Given the description of an element on the screen output the (x, y) to click on. 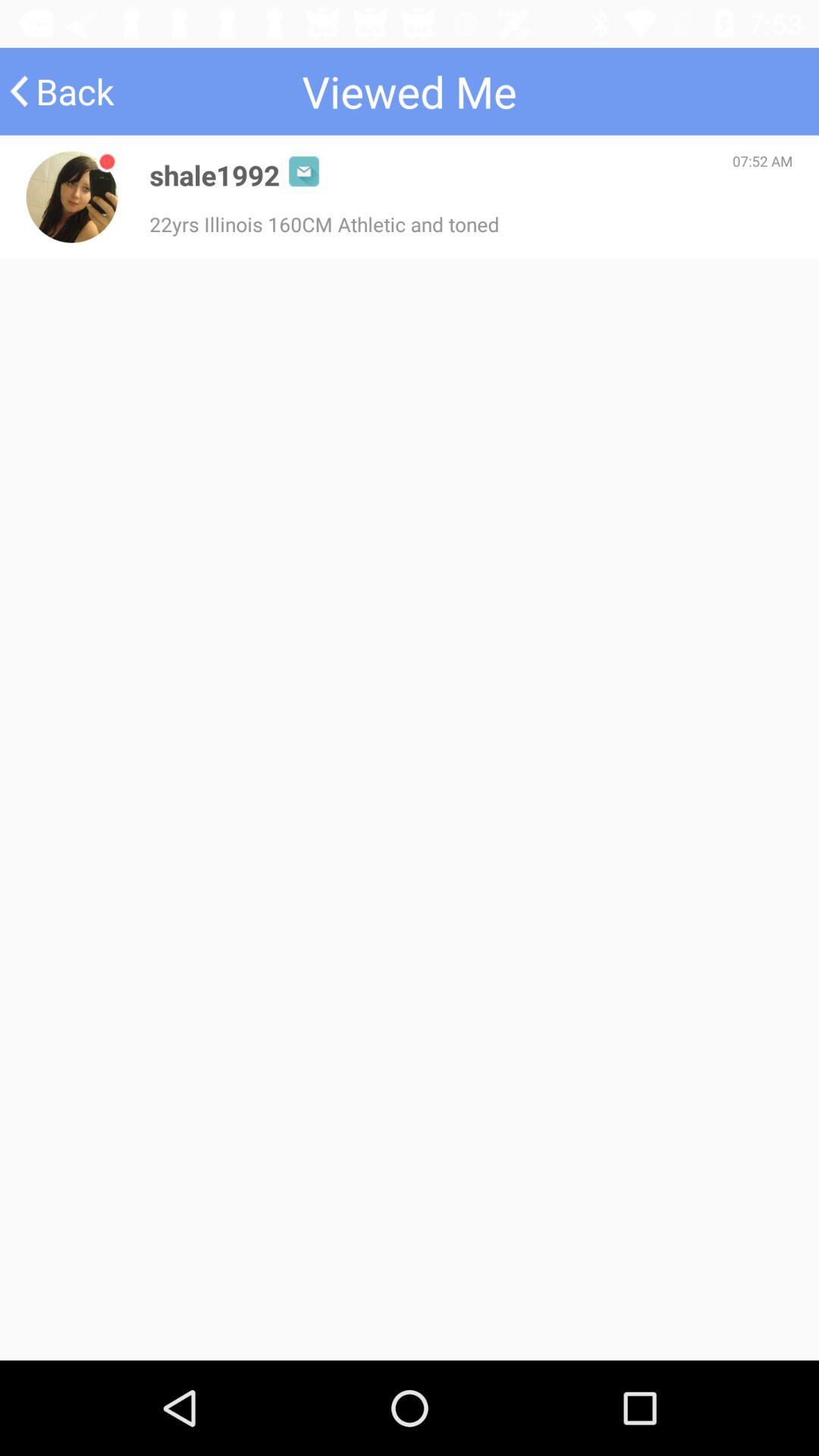
click the item at the top right corner (762, 160)
